Given the description of an element on the screen output the (x, y) to click on. 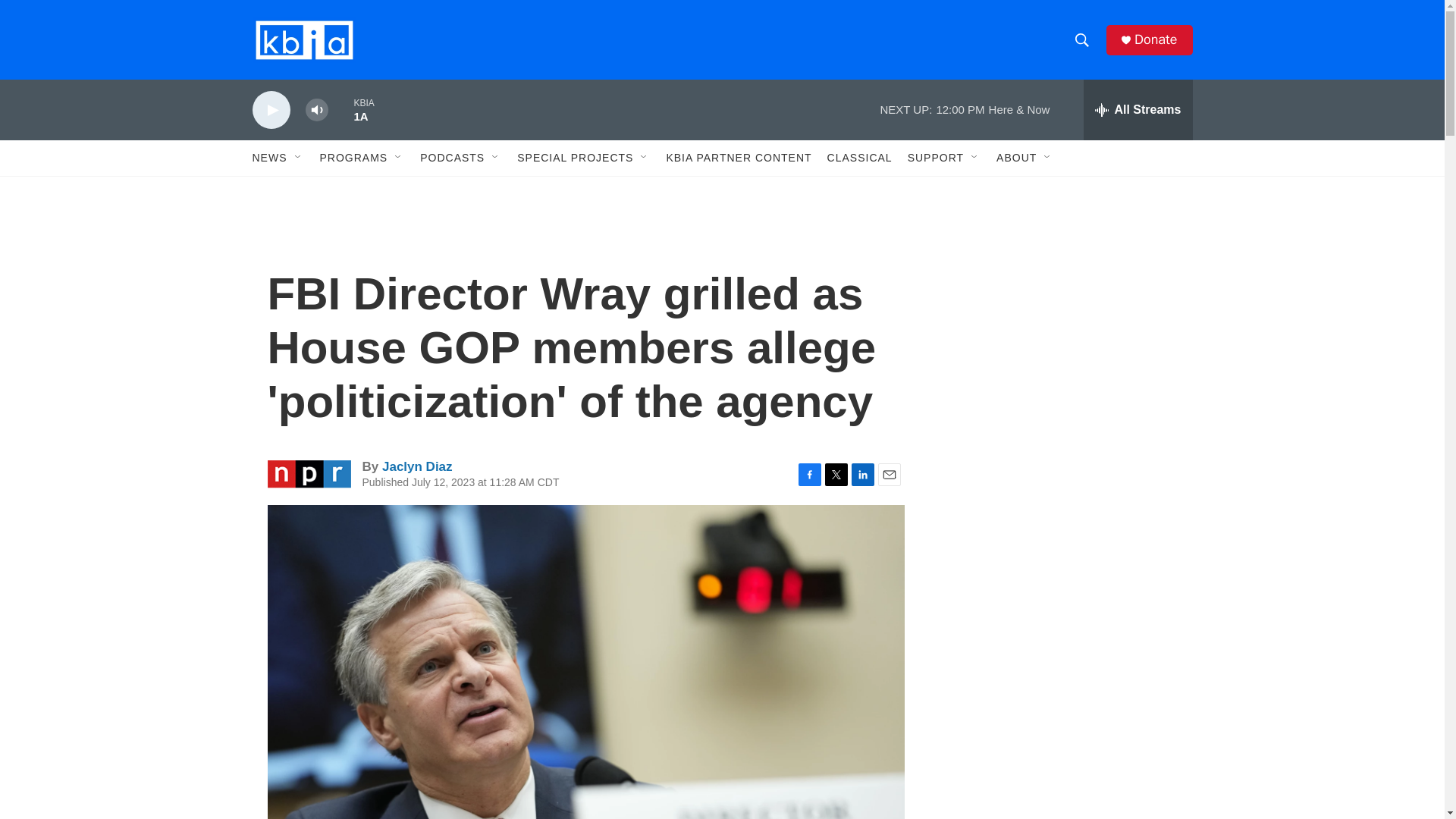
3rd party ad content (1062, 740)
3rd party ad content (1062, 536)
3rd party ad content (1062, 316)
